Given the description of an element on the screen output the (x, y) to click on. 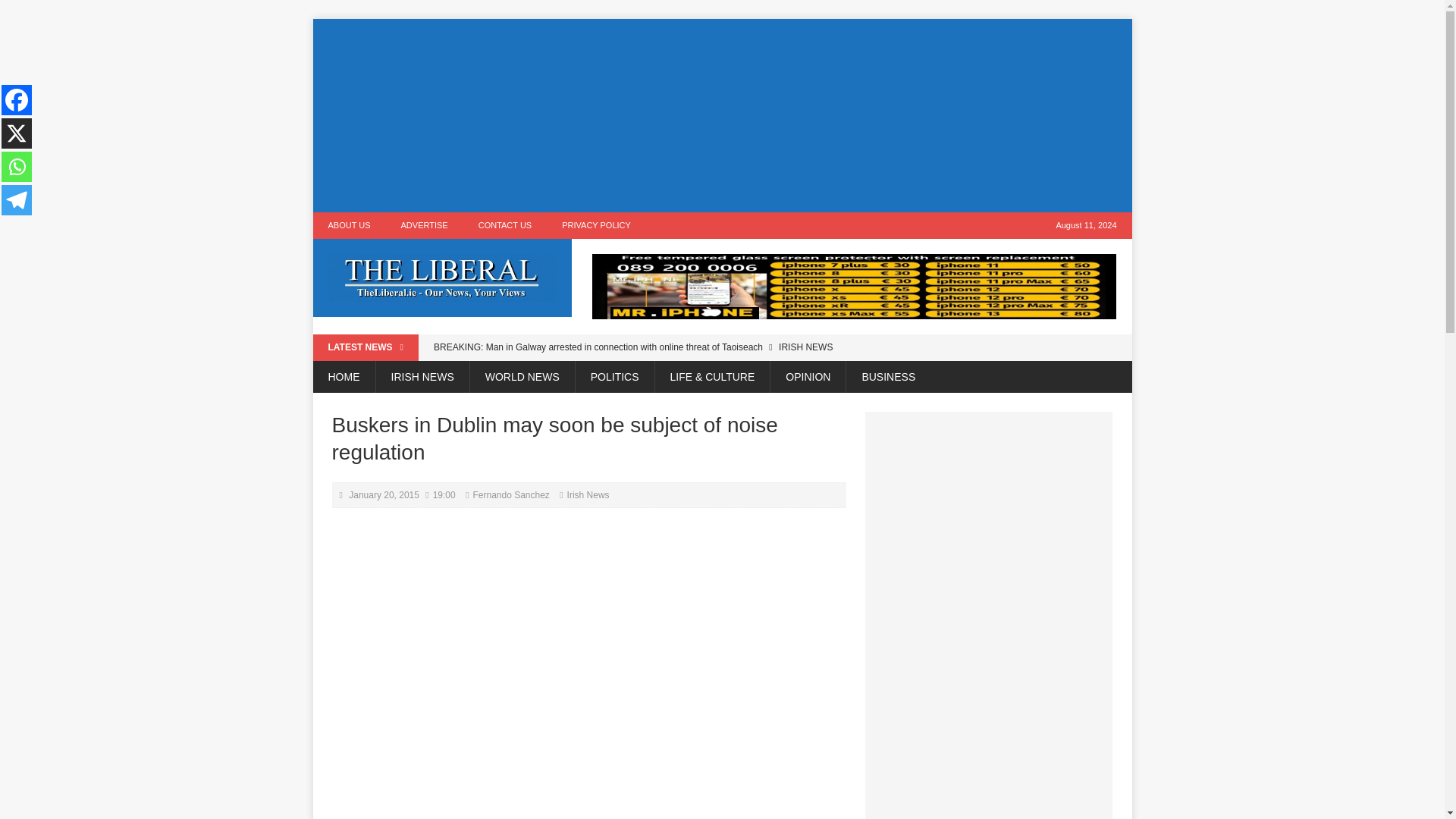
X (16, 132)
ABOUT US (349, 225)
IRISH NEWS (421, 377)
POLITICS (614, 377)
19:00 (443, 494)
CONTACT US (505, 225)
Search (37, 11)
WORLD NEWS (521, 377)
TheLiberal.ie - Our News, Your Views (442, 277)
HOME (343, 377)
